Given the description of an element on the screen output the (x, y) to click on. 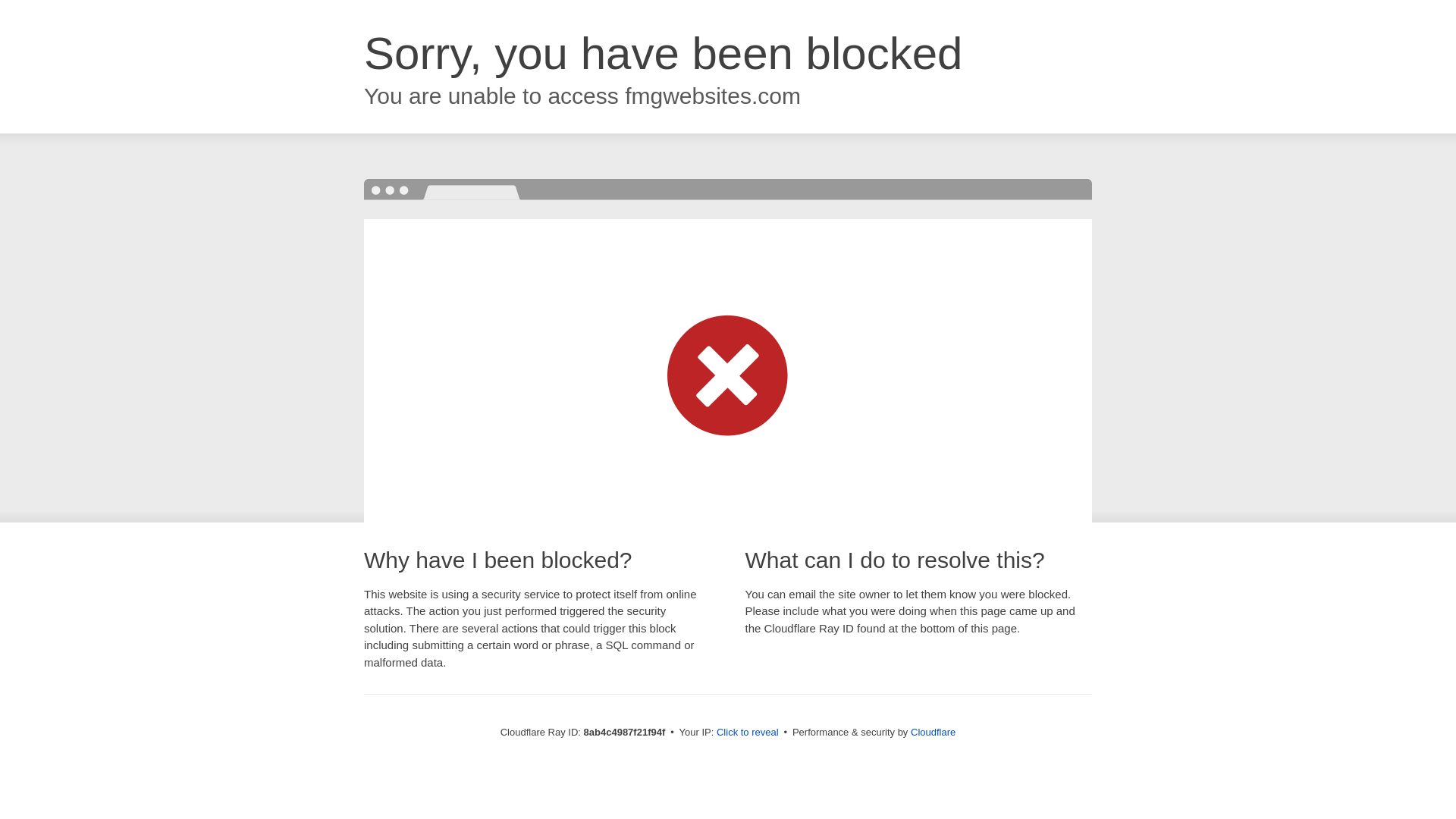
Cloudflare (933, 731)
Click to reveal (747, 732)
